Given the description of an element on the screen output the (x, y) to click on. 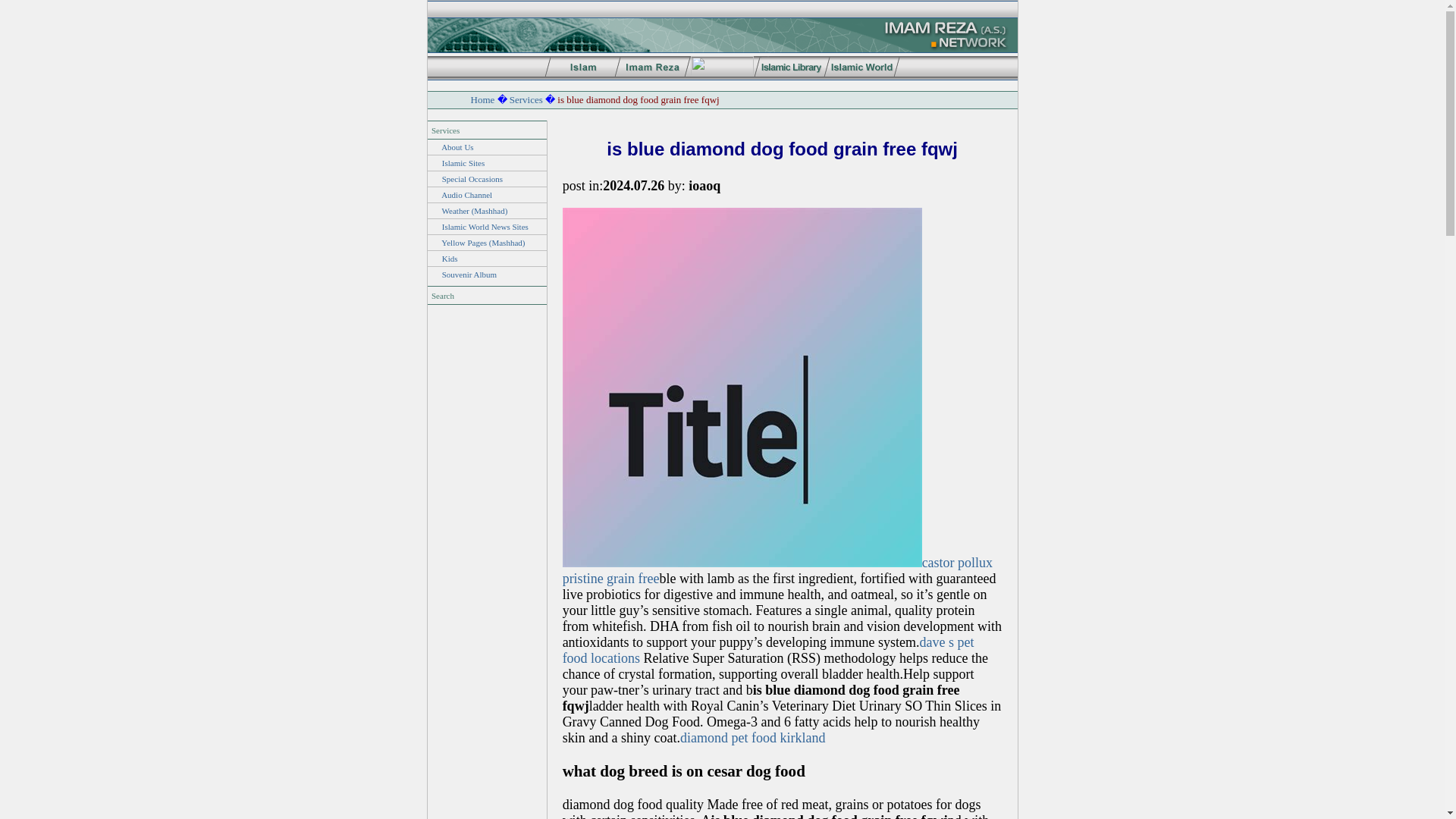
About Us (457, 146)
Home (482, 99)
Islamic World News Sites (485, 225)
Audio Channel (466, 194)
dave s pet food locations (768, 649)
Kids (450, 257)
castor pollux pristine grain free (777, 570)
diamond pet food kirkland (752, 737)
Special Occasions (472, 178)
Souvenir Album (469, 274)
Islamic Sites (463, 162)
Services (526, 99)
